Given the description of an element on the screen output the (x, y) to click on. 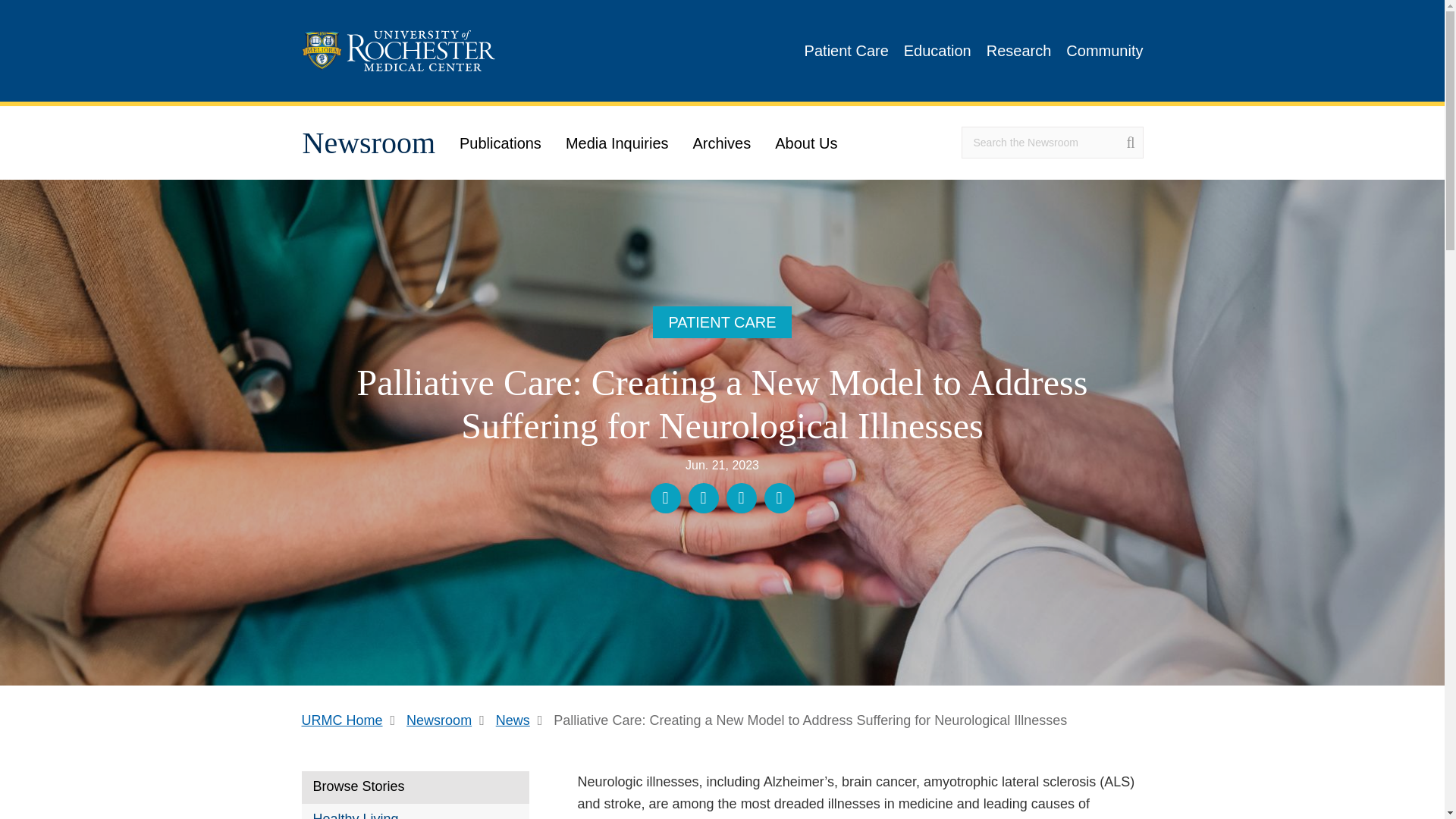
Patient Care (846, 50)
About Us (805, 142)
Research (1018, 50)
Education (937, 50)
Archives (721, 142)
Community (1104, 50)
Media Inquiries (617, 142)
Email (779, 498)
Publications (499, 142)
Newsroom (367, 142)
Newsroom (449, 721)
News (523, 721)
Twitter (703, 498)
LinkedIn (741, 498)
